Given the description of an element on the screen output the (x, y) to click on. 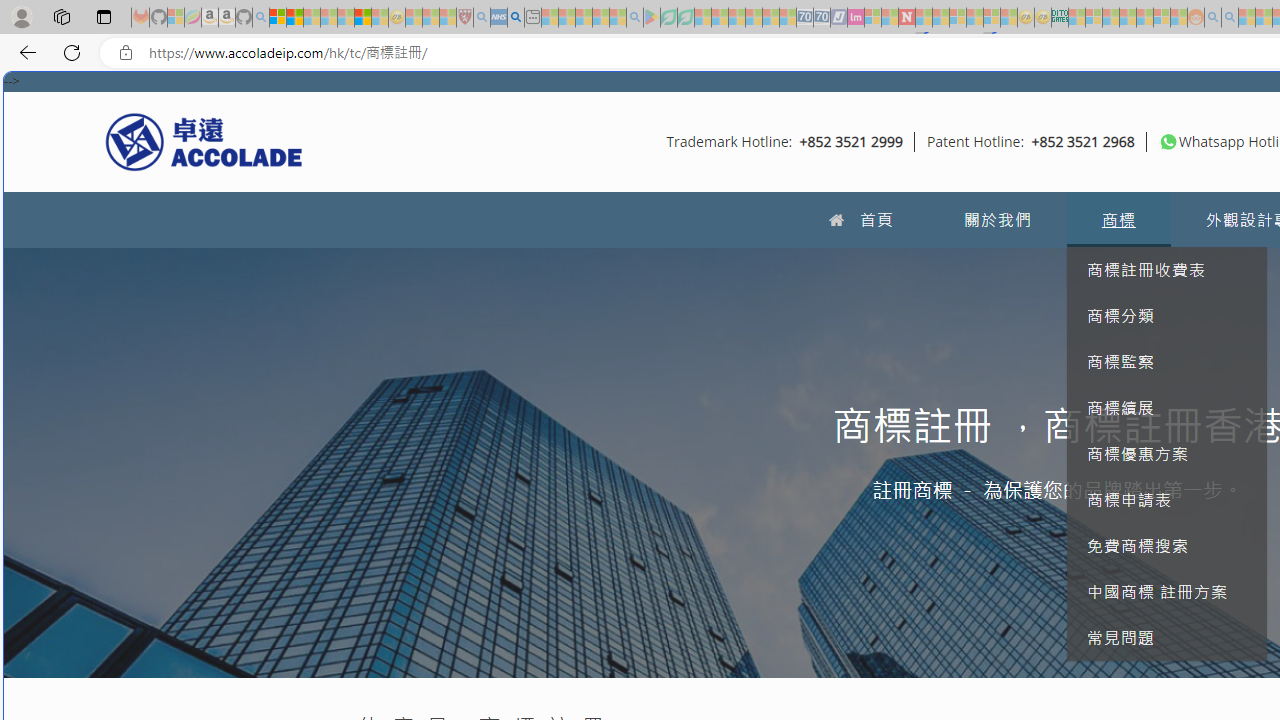
Jobs - lastminute.com Investor Portal - Sleeping (855, 17)
Trusted Community Engagement and Contributions | Guidelines (923, 17)
Pets - MSN - Sleeping (600, 17)
